Given the description of an element on the screen output the (x, y) to click on. 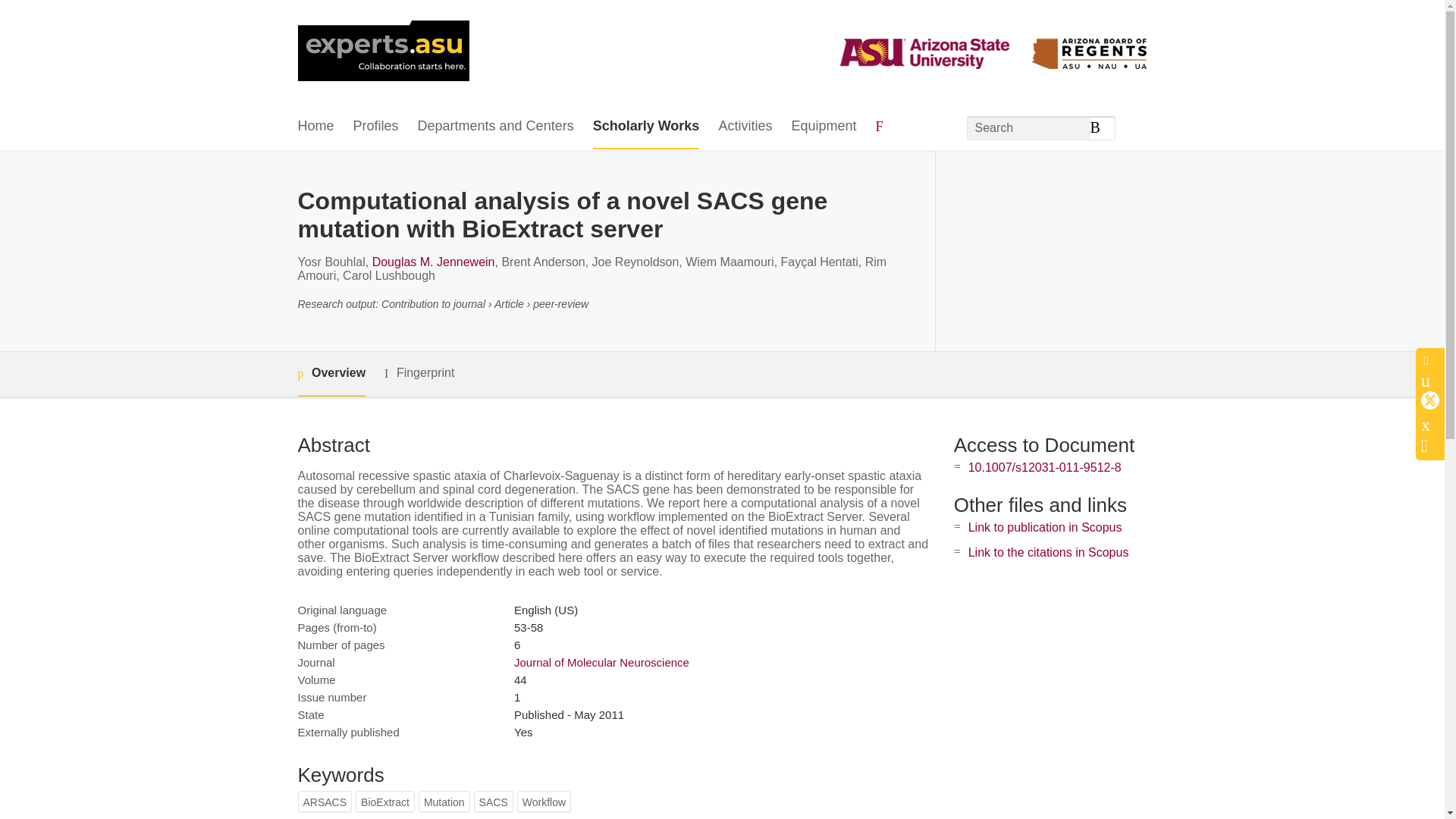
Profiles (375, 126)
Equipment (823, 126)
Journal of Molecular Neuroscience (600, 662)
Douglas M. Jennewein (433, 261)
Overview (331, 374)
Link to the citations in Scopus (1048, 552)
Departments and Centers (495, 126)
Activities (744, 126)
Scholarly Works (646, 126)
Link to publication in Scopus (1045, 526)
Arizona State University Home (382, 52)
Fingerprint (419, 373)
